Given the description of an element on the screen output the (x, y) to click on. 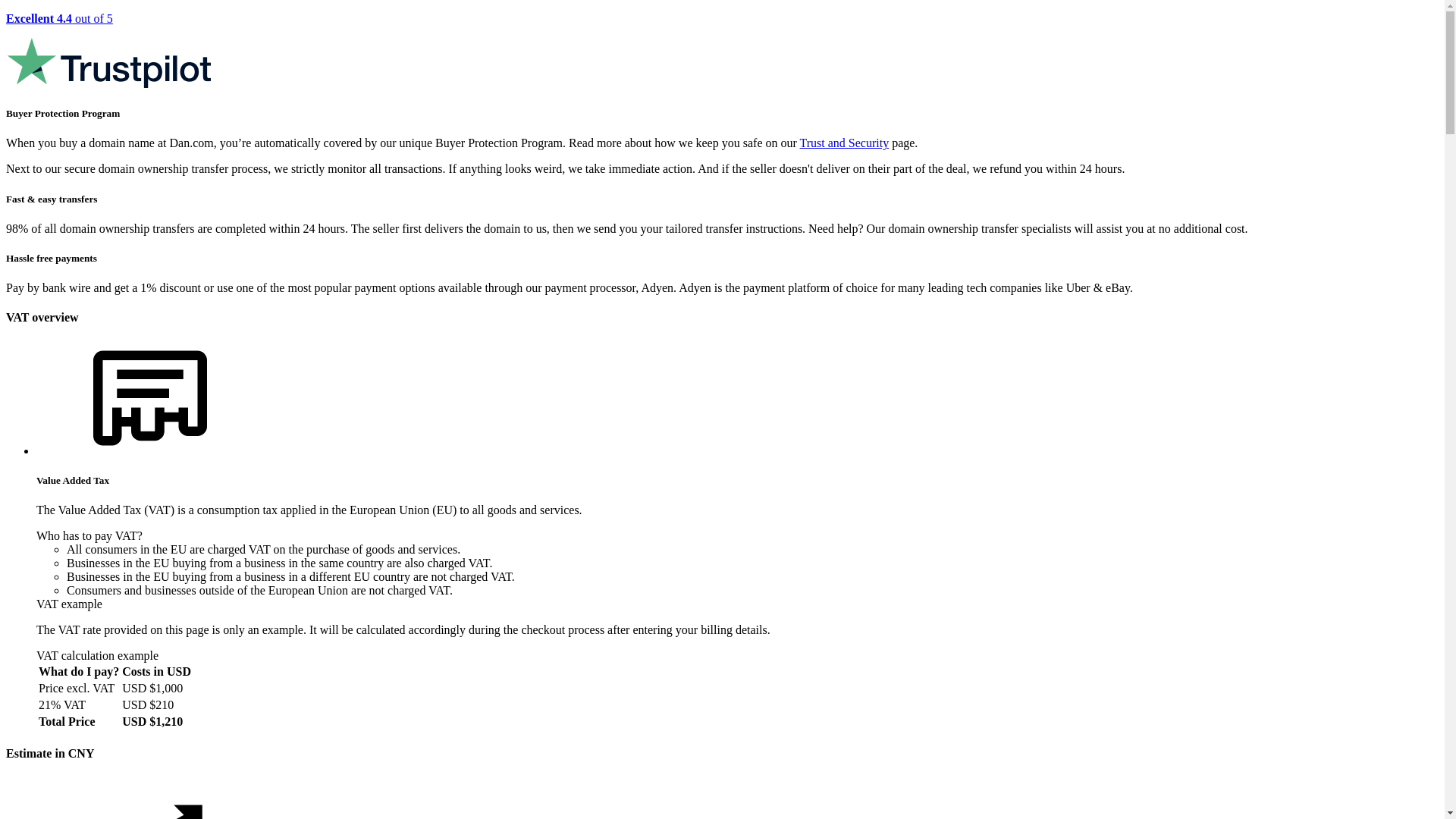
Trust and Security Element type: text (844, 142)
Excellent 4.4 out of 5 Element type: text (722, 51)
